Given the description of an element on the screen output the (x, y) to click on. 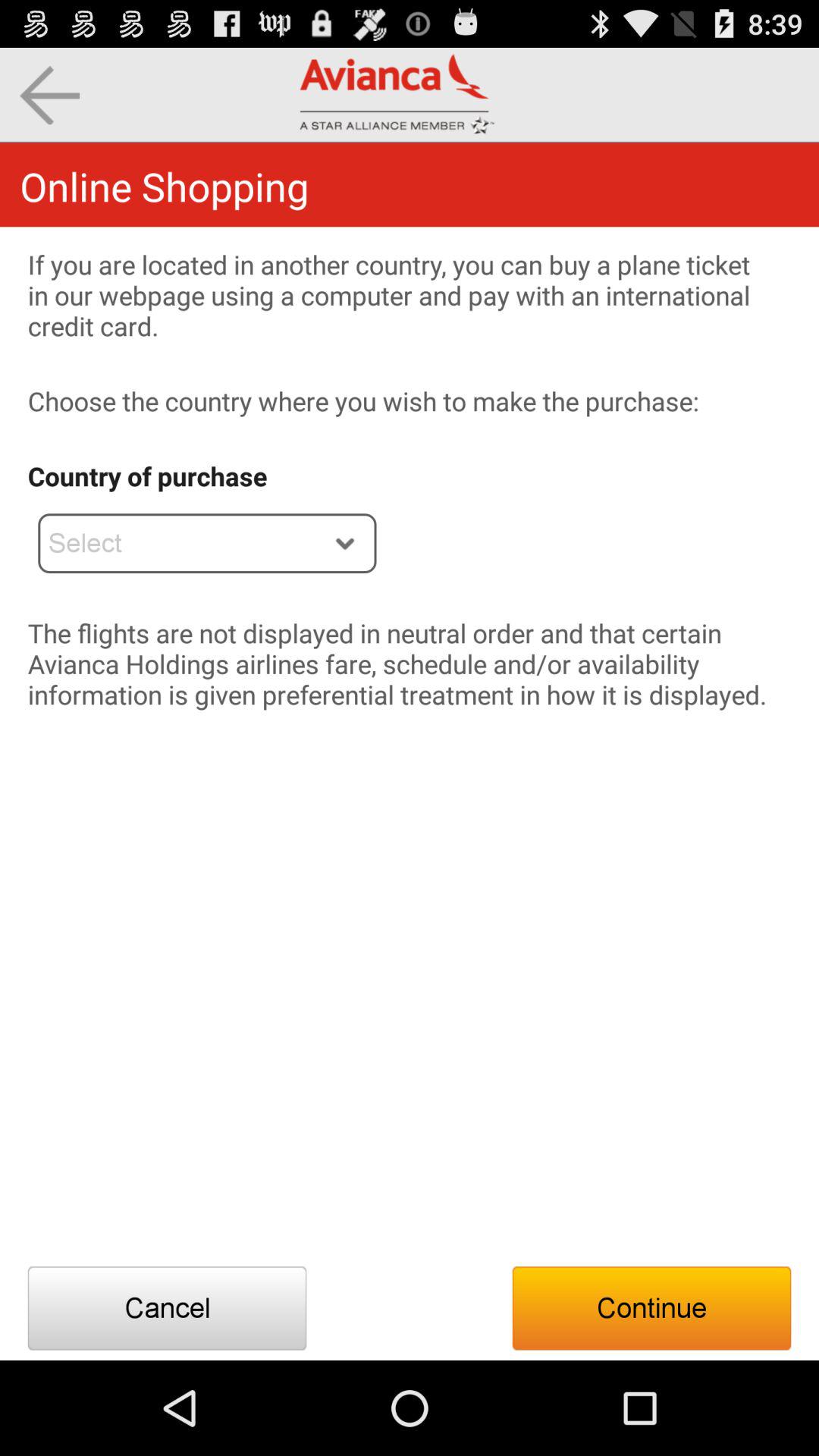
turn off button next to the cancel button (651, 1308)
